Given the description of an element on the screen output the (x, y) to click on. 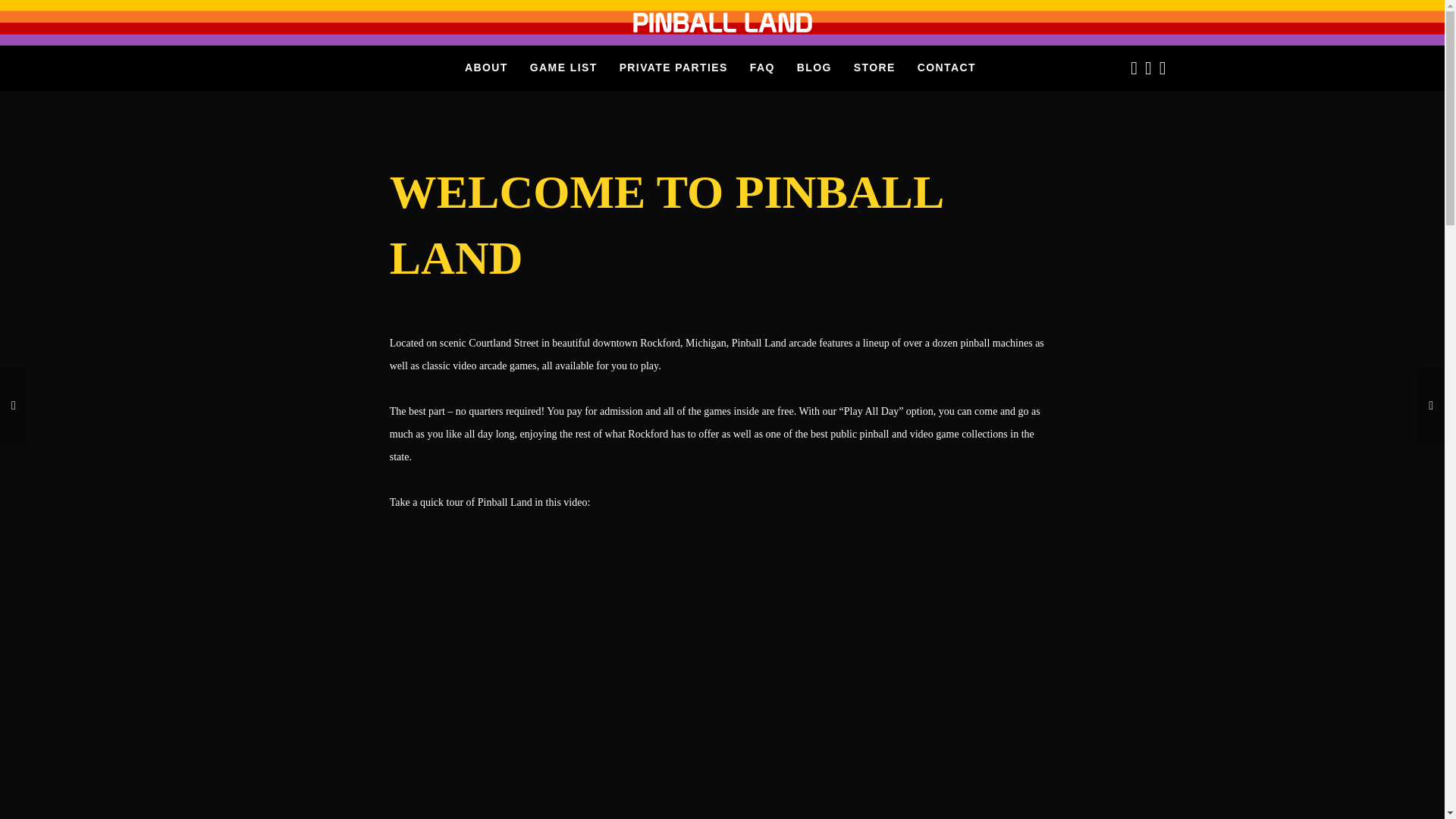
STORE (874, 67)
FAQ (762, 67)
ABOUT (485, 67)
GAME LIST (564, 67)
PRIVATE PARTIES (673, 67)
Pinball Land (721, 22)
BLOG (814, 67)
CONTACT (946, 67)
